Given the description of an element on the screen output the (x, y) to click on. 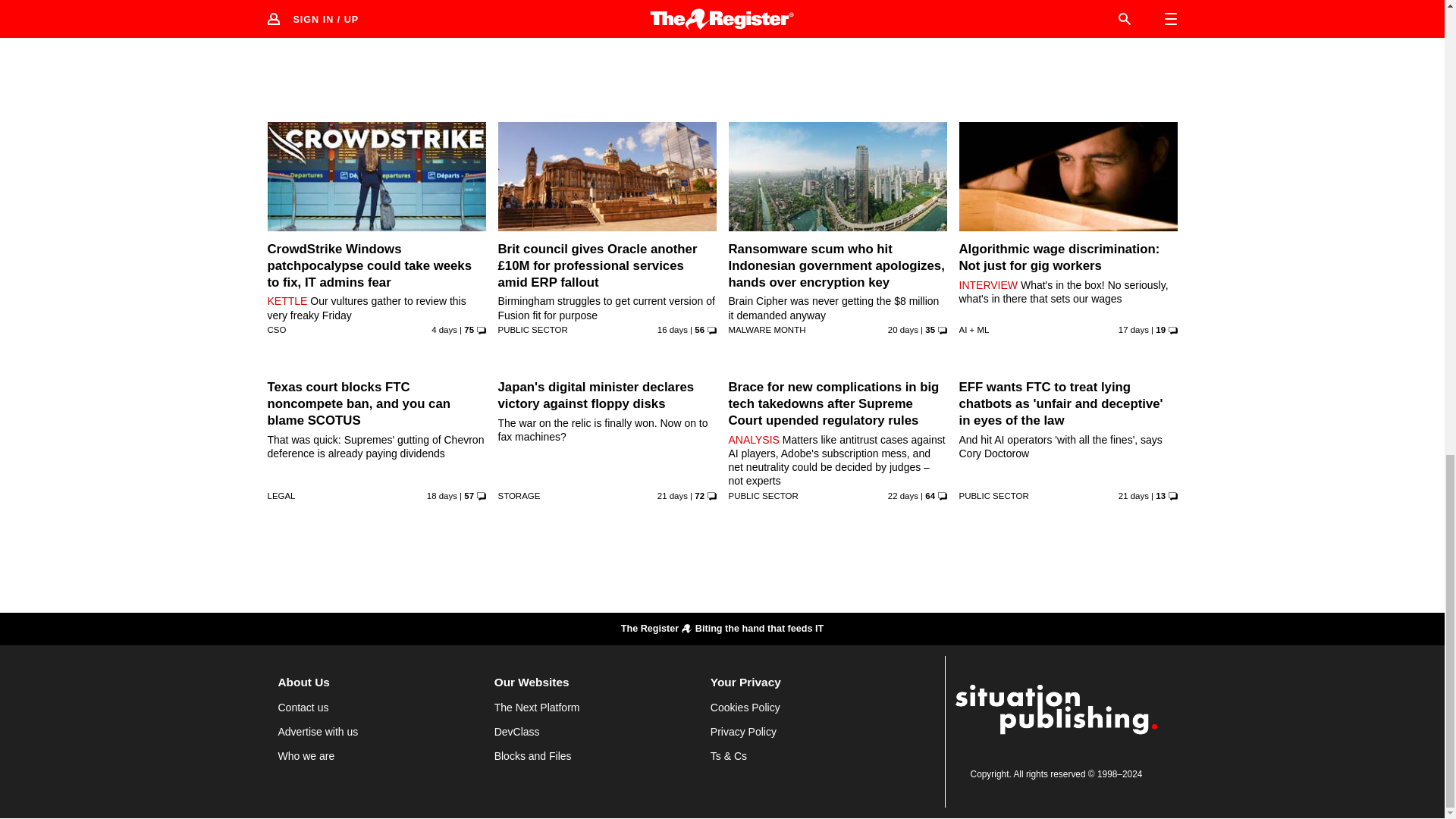
19 Jul 2024 17:54 (443, 329)
8 Jul 2024 12:2 (672, 329)
4 Jul 2024 5:47 (903, 329)
3 Jul 2024 11:33 (672, 495)
5 Jul 2024 18:37 (441, 495)
6 Jul 2024 16:38 (1133, 329)
